Given the description of an element on the screen output the (x, y) to click on. 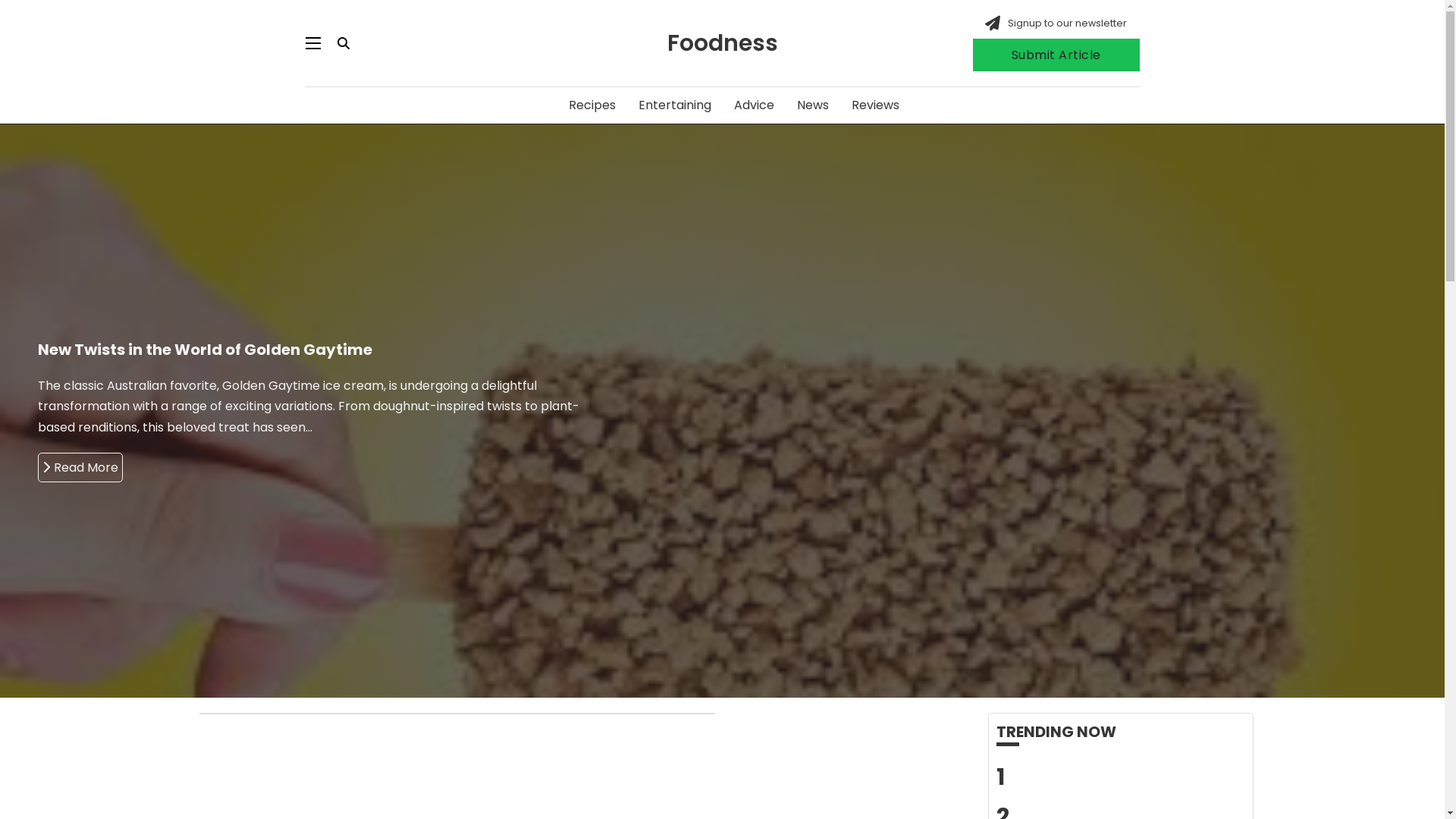
Reviews Element type: text (874, 104)
Signup to our newsletter Element type: text (1066, 22)
Recipes Element type: text (591, 104)
Submit Article Element type: text (1055, 54)
News Element type: text (812, 104)
New Twists in the World of Golden Gaytime Element type: text (562, 349)
Read More Element type: text (362, 467)
1 Element type: text (1000, 777)
Advice Element type: text (754, 104)
Entertaining Element type: text (674, 104)
Foodness Element type: text (722, 42)
